Given the description of an element on the screen output the (x, y) to click on. 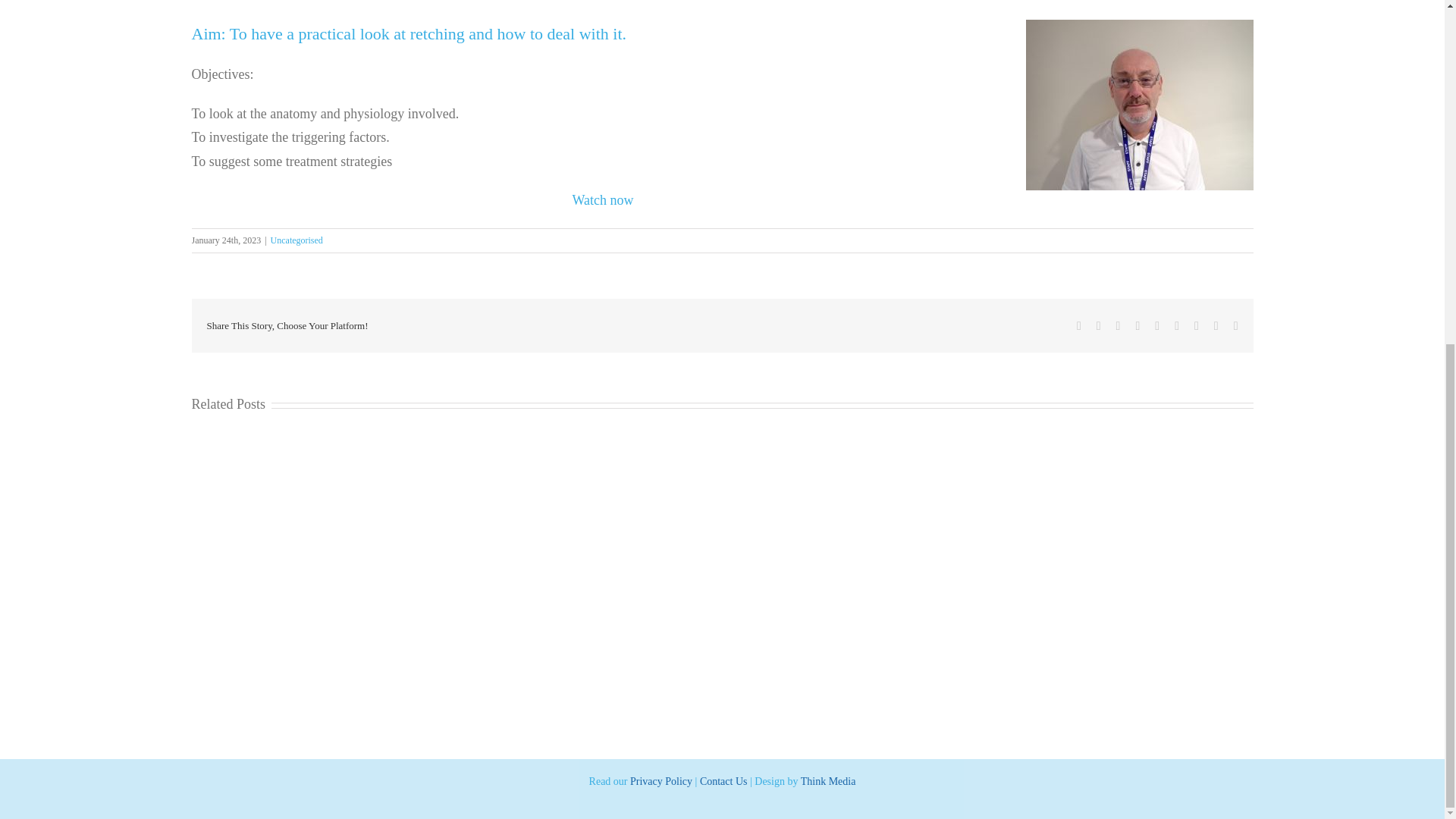
Watch now (602, 200)
Uncategorised (296, 240)
